Given the description of an element on the screen output the (x, y) to click on. 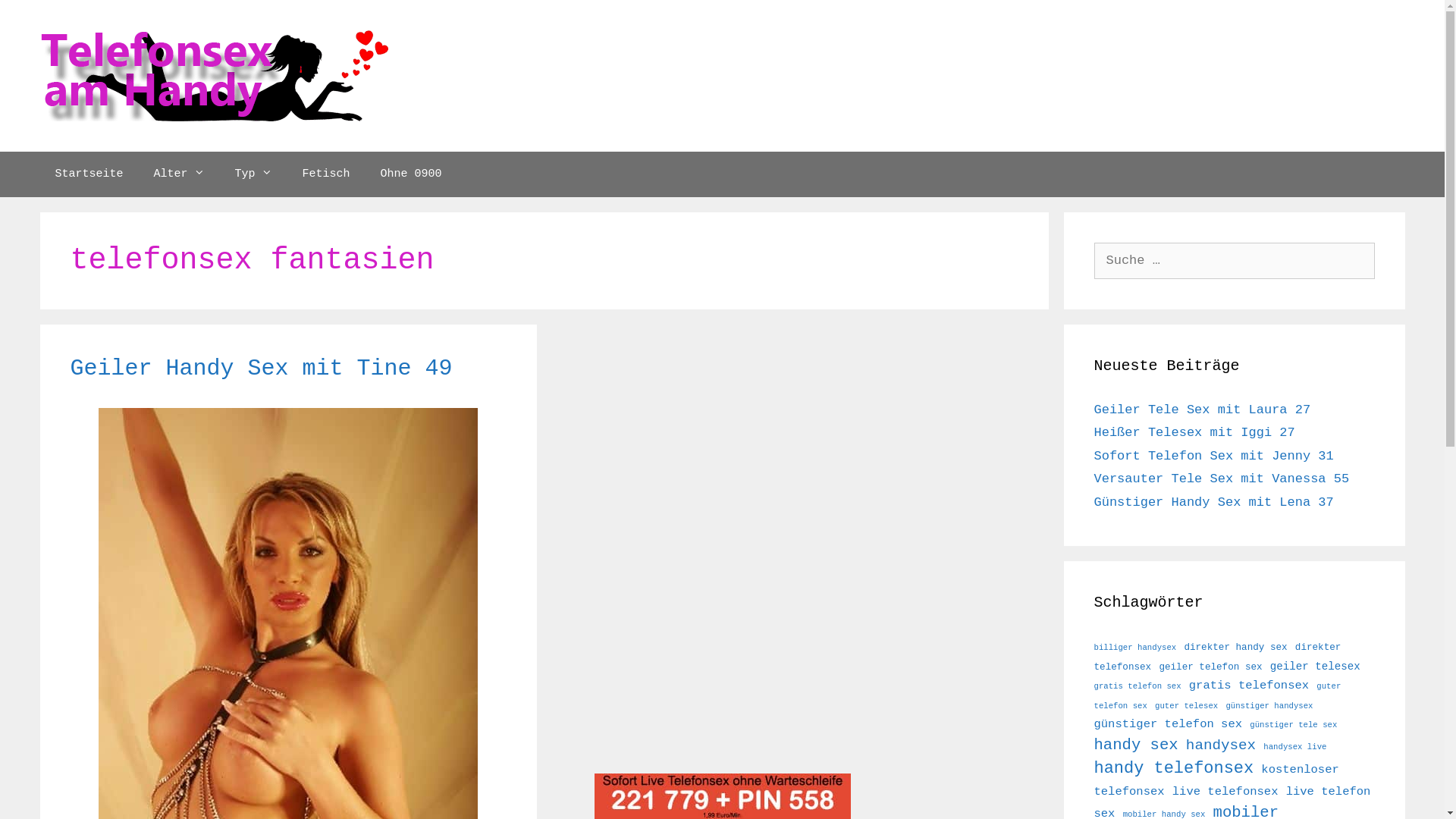
Sofort Telefon Sex mit Jenny 31 Element type: text (1213, 455)
guter telefon sex Element type: text (1216, 695)
Geiler Handy Sex mit Tine 49 Element type: text (260, 368)
Alter Element type: text (178, 174)
handy telefonsex Element type: text (1173, 768)
Versauter Tele Sex mit Vanessa 55 Element type: text (1221, 478)
Telefonsex Handy Element type: hover (213, 75)
direkter telefonsex Element type: text (1216, 657)
geiler telefon sex Element type: text (1209, 666)
geiler telesex Element type: text (1315, 665)
handysex Element type: text (1220, 745)
Fetisch Element type: text (326, 174)
Geiler Tele Sex mit Laura 27 Element type: text (1201, 408)
Ohne 0900 Element type: text (411, 174)
handy sex Element type: text (1135, 744)
direkter handy sex Element type: text (1234, 647)
handysex live Element type: text (1294, 745)
Suche nach: Element type: hover (1233, 260)
Suchen Element type: text (39, 18)
gratis telefonsex Element type: text (1248, 685)
Telefonsex Handy Element type: hover (213, 75)
billiger handysex Element type: text (1134, 647)
live telefonsex Element type: text (1225, 791)
Typ Element type: text (253, 174)
guter telesex Element type: text (1185, 704)
kostenloser telefonsex Element type: text (1215, 780)
gratis telefon sex Element type: text (1136, 685)
Startseite Element type: text (88, 174)
